Given the description of an element on the screen output the (x, y) to click on. 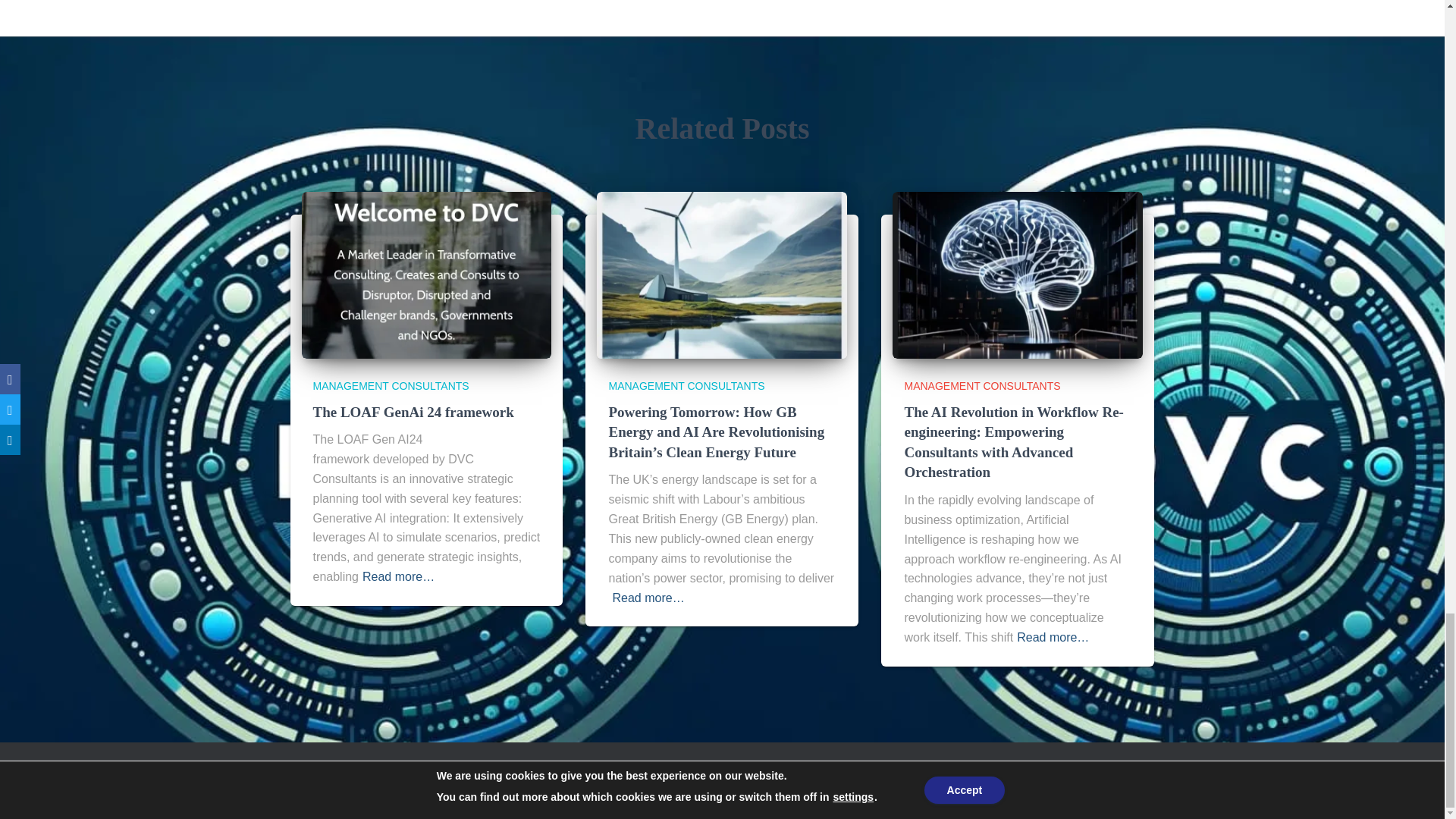
The LOAF GenAi 24 framework (413, 411)
The LOAF GenAi 24 framework (426, 274)
The LOAF GenAi 24 framework (413, 411)
ThemeIsle (1129, 784)
View all posts in Management Consultants (390, 386)
MANAGEMENT CONSULTANTS (390, 386)
View all posts in Management Consultants (686, 386)
PRIVACY POLICY (337, 783)
MANAGEMENT CONSULTANTS (981, 386)
MANAGEMENT CONSULTANTS (686, 386)
